Given the description of an element on the screen output the (x, y) to click on. 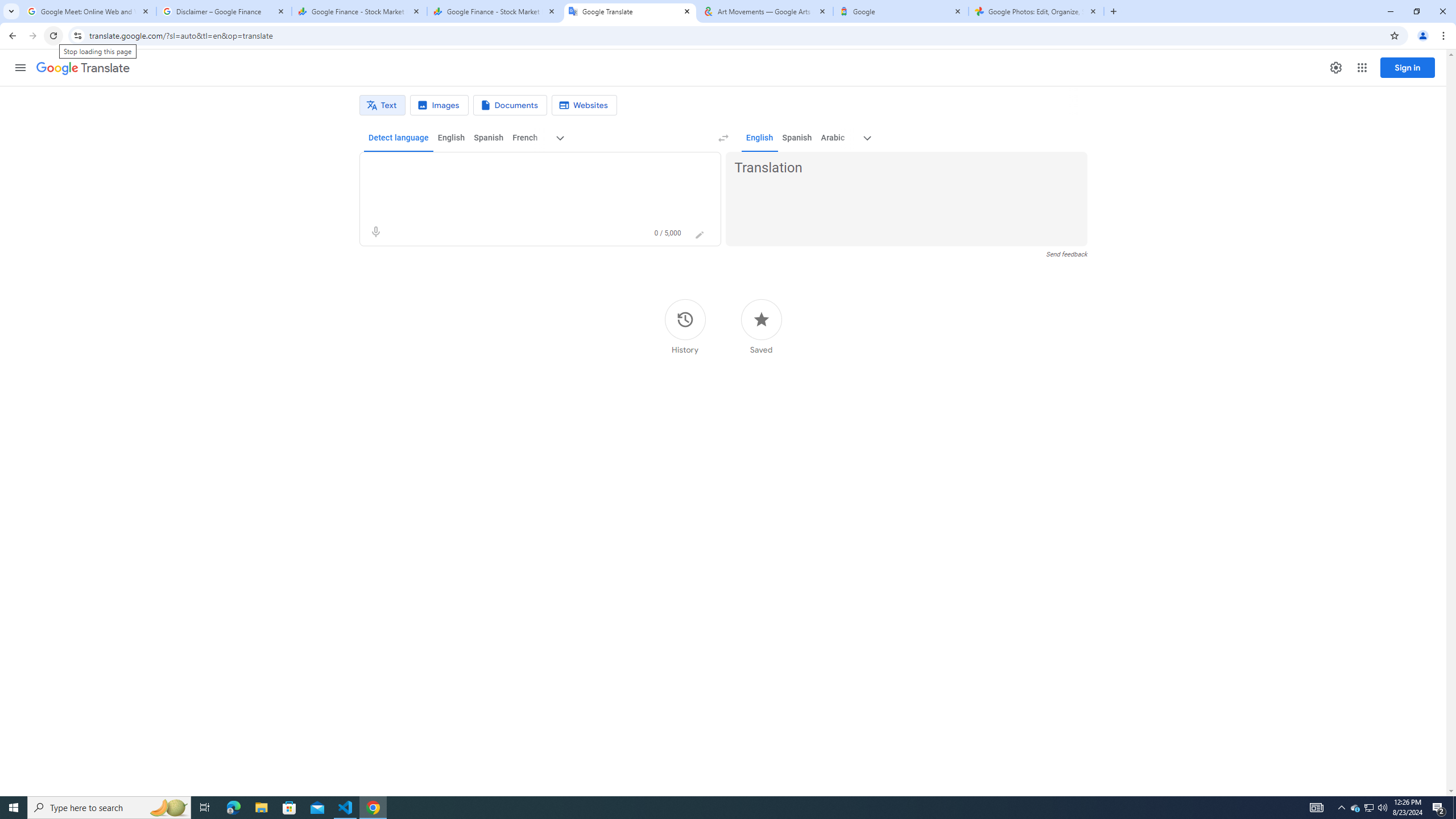
Google Translate (82, 68)
Source text (529, 167)
Detect language (398, 137)
French (524, 137)
History (684, 326)
